Given the description of an element on the screen output the (x, y) to click on. 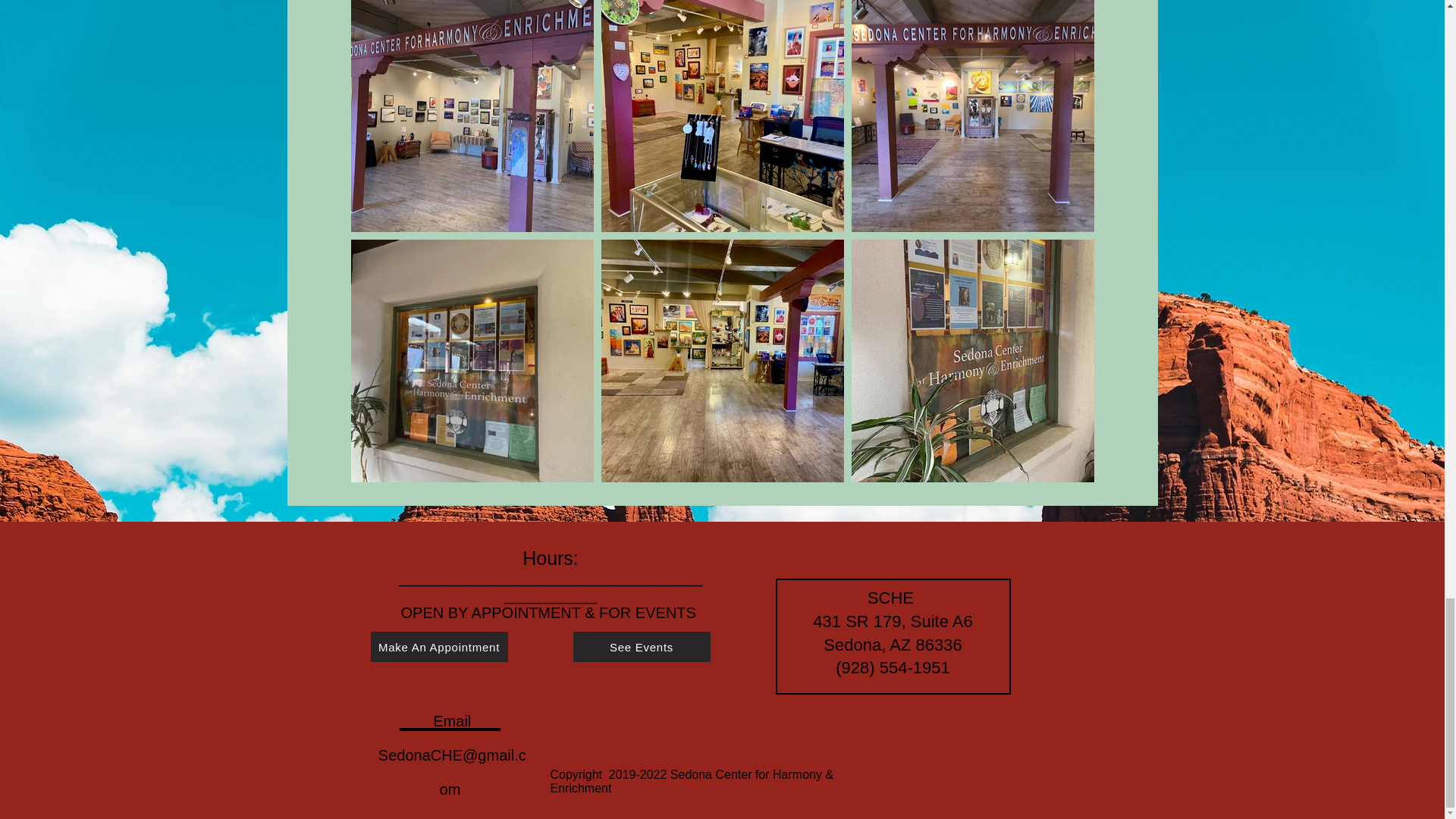
See Events (641, 646)
Make An Appointment (437, 646)
